Given the description of an element on the screen output the (x, y) to click on. 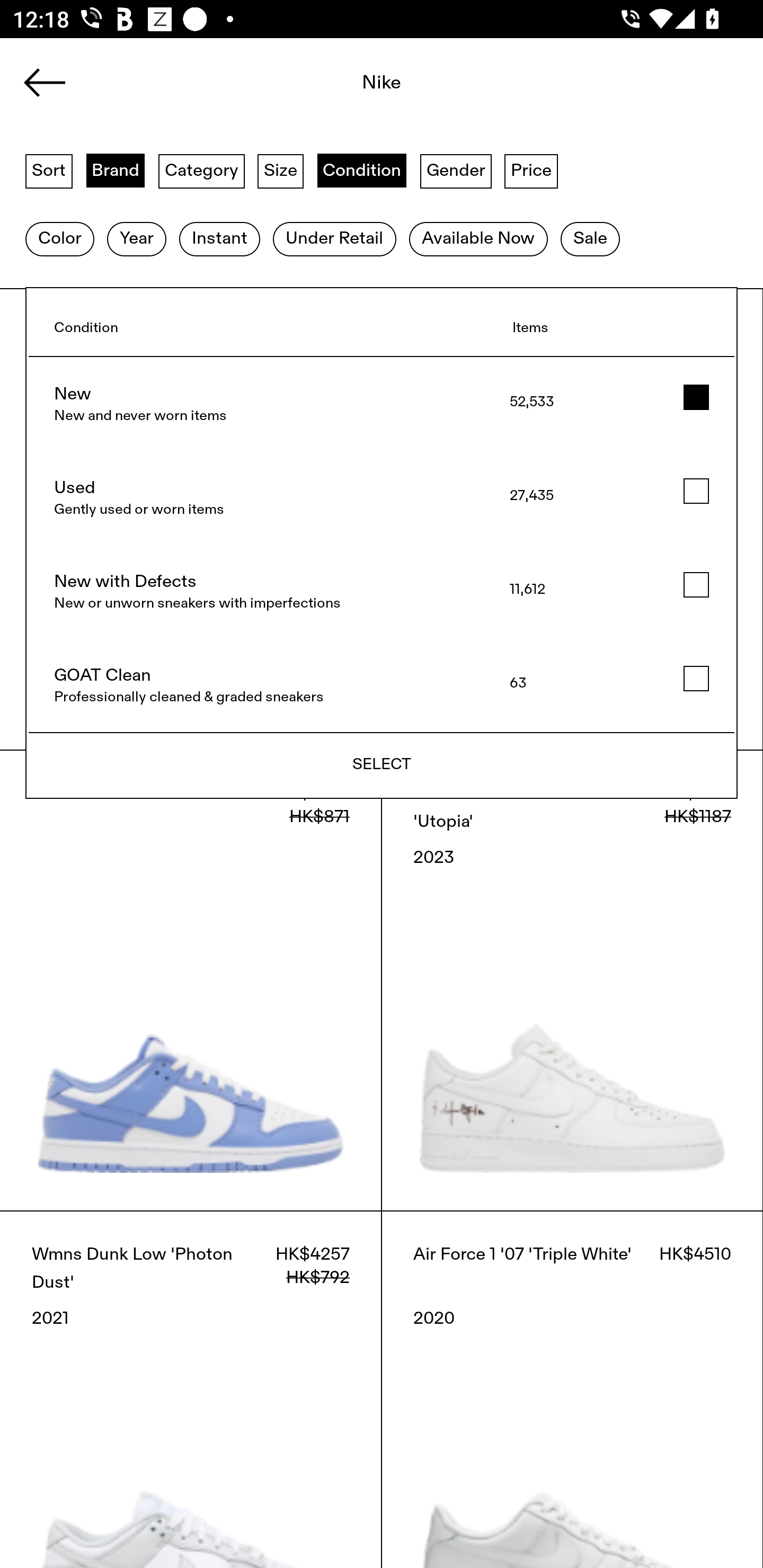
Sort (48, 170)
Brand (115, 170)
Category (201, 170)
Size (280, 170)
Condition (361, 170)
Gender (455, 170)
Price (530, 170)
Color (59, 239)
Year (136, 239)
Instant (219, 239)
Under Retail (334, 239)
Available Now (477, 239)
Sale (589, 239)
New New and never worn items 52,533 (381, 404)
Used Gently used or worn items 27,435 (381, 497)
Newly Released (381, 765)
Dunk Low 'Polar Blue' HK$4573 HK$871 (190, 979)
Wmns Dunk Low 'Photon Dust' HK$4257 HK$792 2021 (190, 1389)
Air Force 1 '07 'Triple White' HK$4510 2020 (572, 1389)
